Given the description of an element on the screen output the (x, y) to click on. 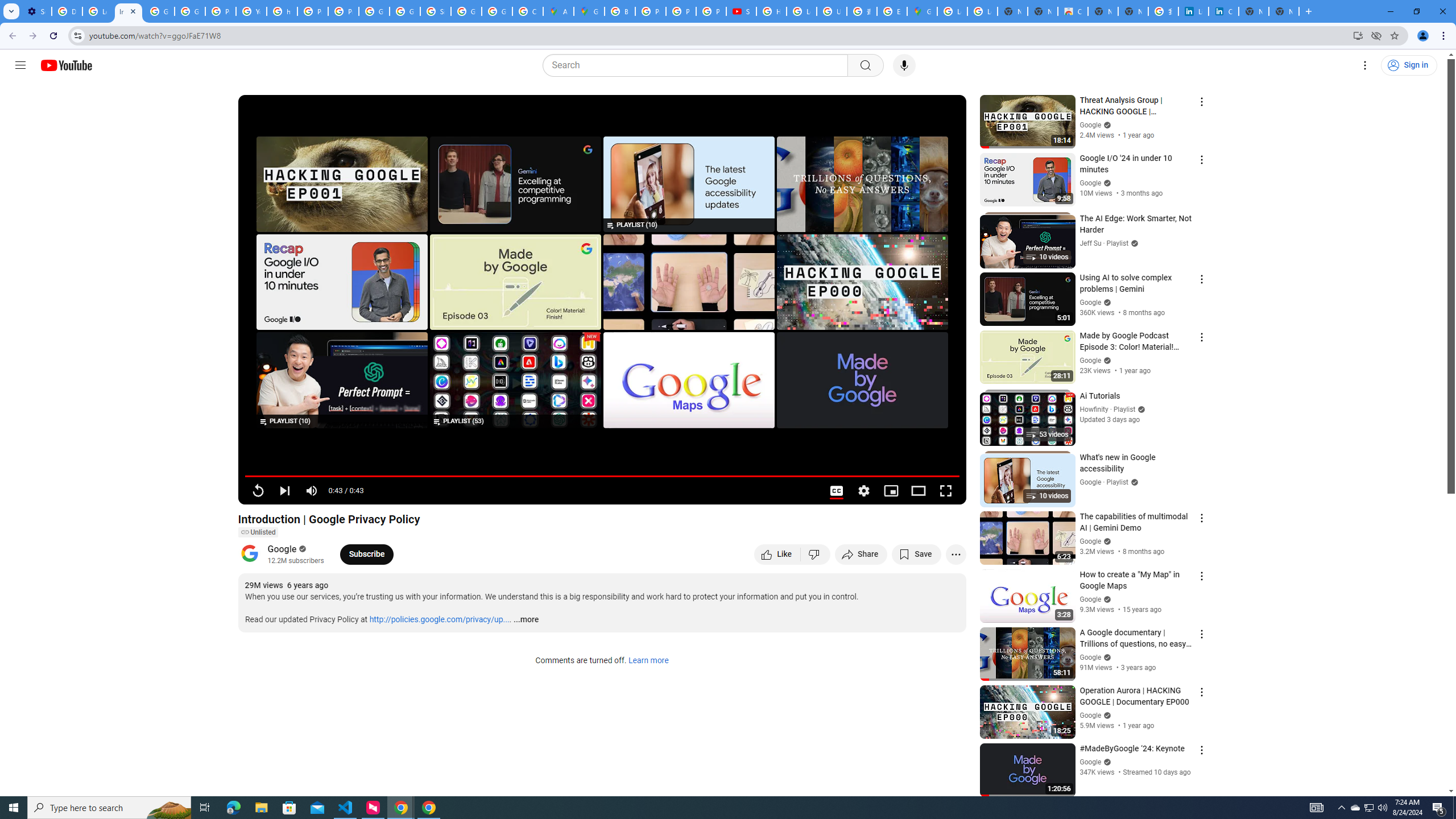
YouTube Home (66, 65)
Google Account Help (189, 11)
Watch The AI Edge: Work Smarter, Not Harder (342, 380)
Explore new street-level details - Google Maps Help (892, 11)
Google Maps (589, 11)
